Given the description of an element on the screen output the (x, y) to click on. 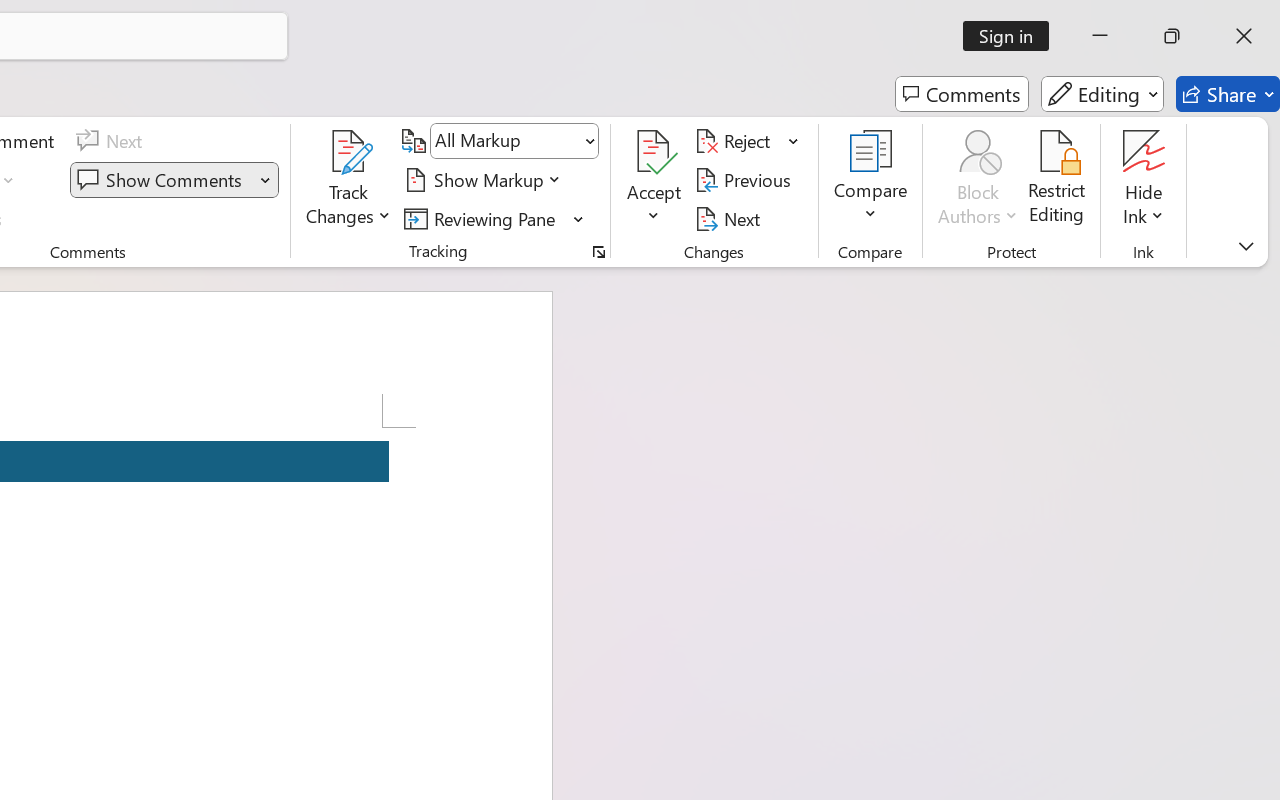
Restrict Editing (1057, 179)
Accept (653, 179)
Accept and Move to Next (653, 151)
Track Changes (349, 179)
Block Authors (977, 179)
Track Changes (349, 151)
Show Comments (174, 179)
Reviewing Pane (494, 218)
Reviewing Pane (483, 218)
Compare (870, 179)
Reject and Move to Next (735, 141)
Show Markup (485, 179)
Display for Review (514, 141)
